Given the description of an element on the screen output the (x, y) to click on. 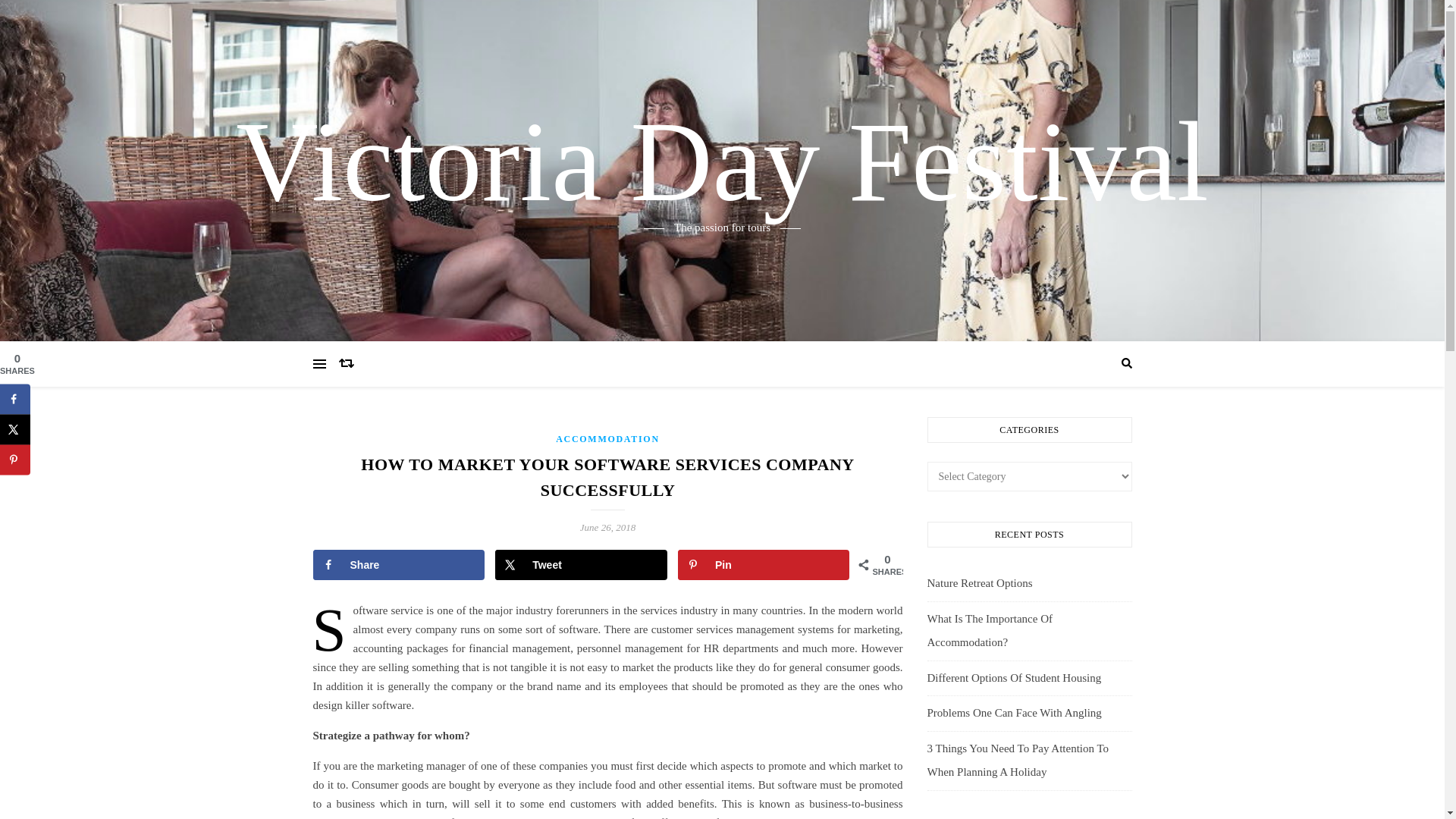
Share on Facebook (398, 564)
Save to Pinterest (15, 459)
Tweet (580, 564)
Share on Facebook (15, 399)
Share (398, 564)
ACCOMMODATION (607, 439)
Different Options Of Student Housing (1013, 677)
Share on X (580, 564)
Share on X (15, 429)
What Is The Importance Of Accommodation? (989, 630)
Save to Pinterest (764, 564)
Pin (764, 564)
Nature Retreat Options (979, 582)
Problems One Can Face With Angling (1013, 712)
